Given the description of an element on the screen output the (x, y) to click on. 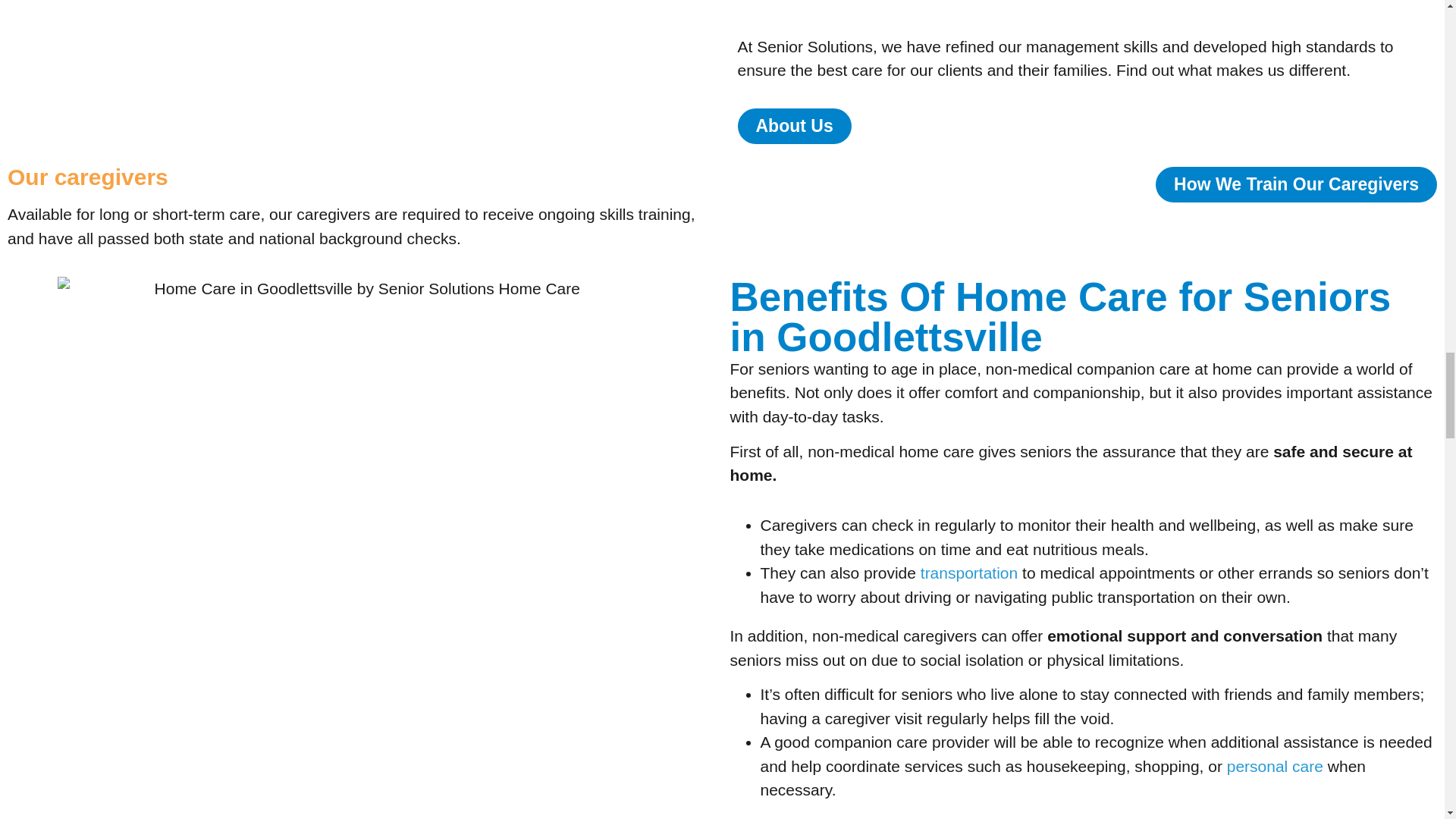
personal care (1275, 765)
transportation (968, 572)
